Given the description of an element on the screen output the (x, y) to click on. 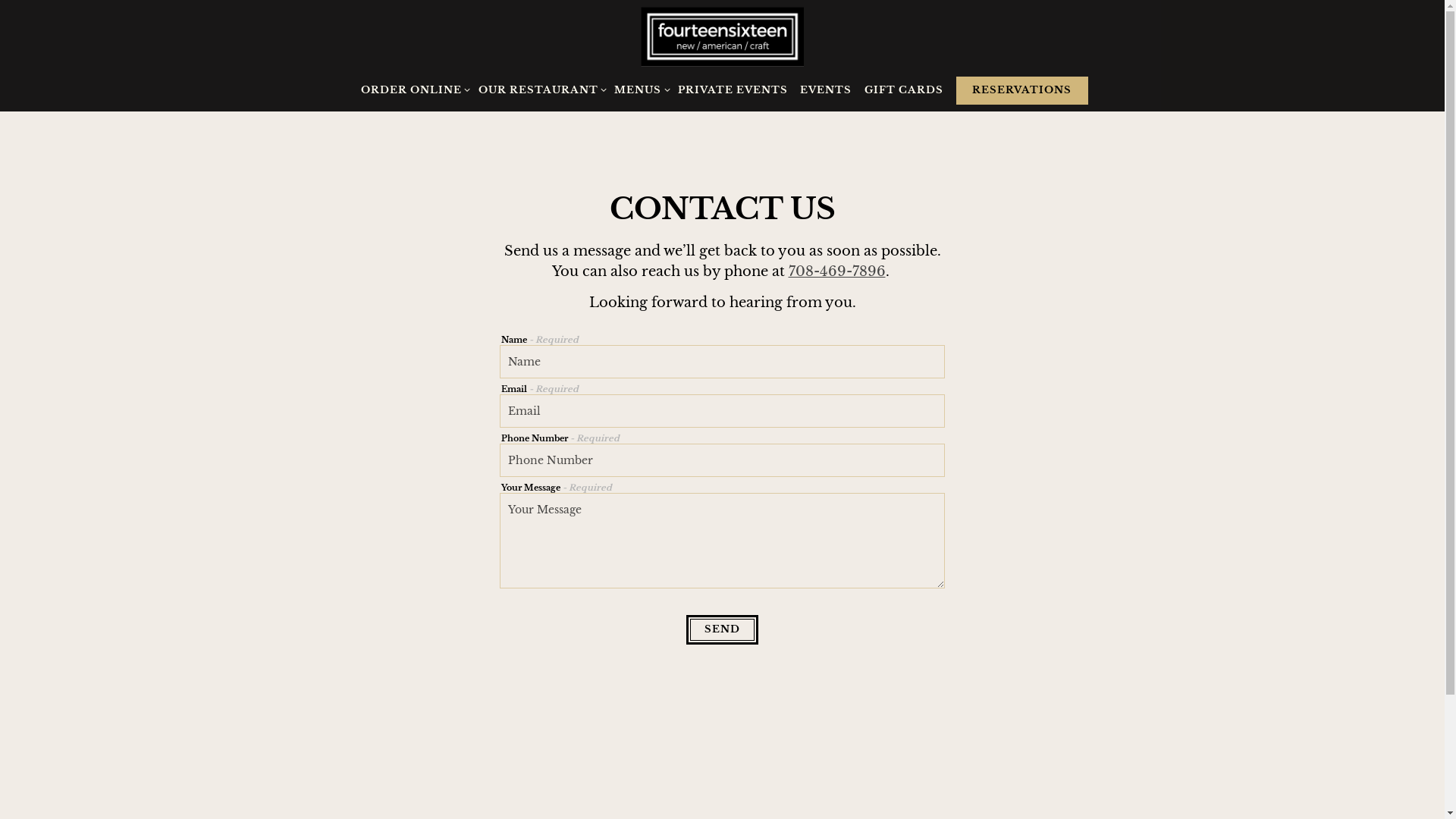
EVENTS Element type: text (825, 90)
ORDER ONLINE Element type: text (411, 90)
RESERVATIONS Element type: text (1022, 90)
708-469-7896 Element type: text (836, 271)
SEND Element type: text (722, 629)
PRIVATE EVENTS Element type: text (733, 90)
GIFT CARDS Element type: text (903, 90)
MENUS Element type: text (637, 90)
OUR RESTAURANT Element type: text (537, 90)
